Given the description of an element on the screen output the (x, y) to click on. 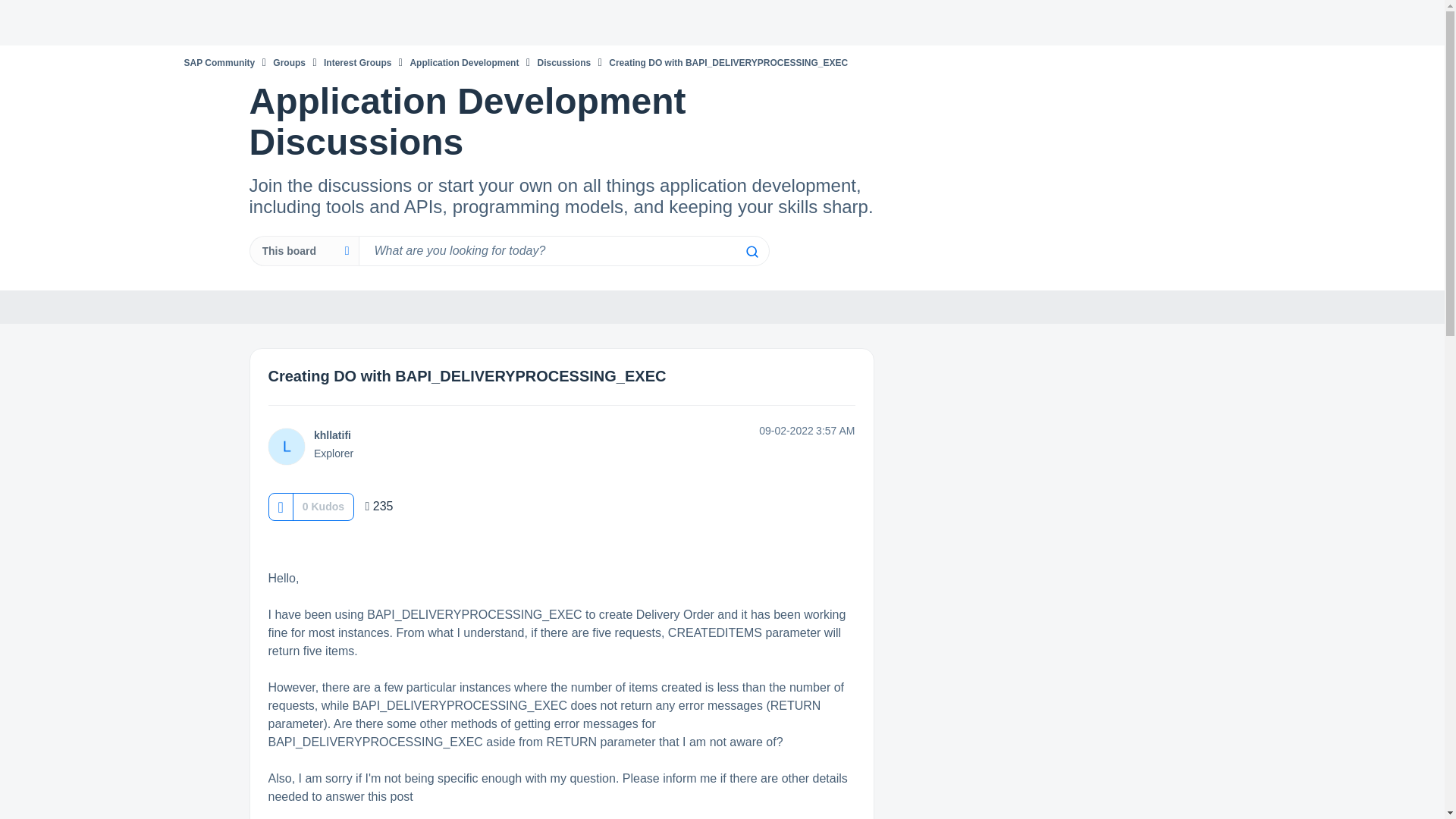
The total number of kudos this post has received. (323, 506)
Search (750, 251)
Search (750, 251)
khllatifi (285, 446)
khllatifi (332, 435)
SAP Community (218, 62)
Click here to give kudos to this post. (279, 506)
Interest Groups (357, 62)
Search (563, 250)
Search (750, 251)
